Given the description of an element on the screen output the (x, y) to click on. 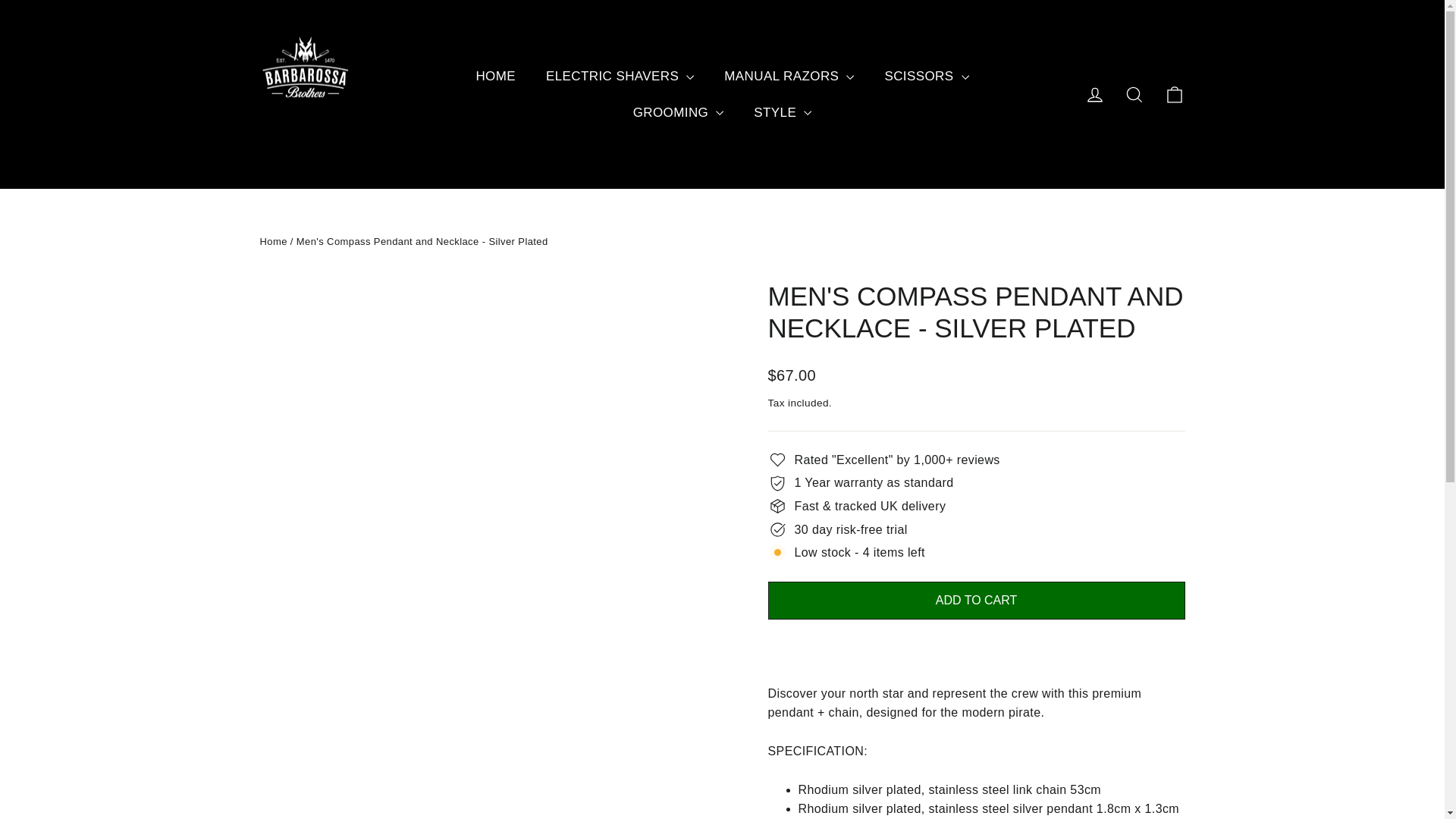
Back to the frontpage (272, 241)
icon-search (1134, 94)
account (1094, 94)
icon-bag-minimal (1174, 94)
